Given the description of an element on the screen output the (x, y) to click on. 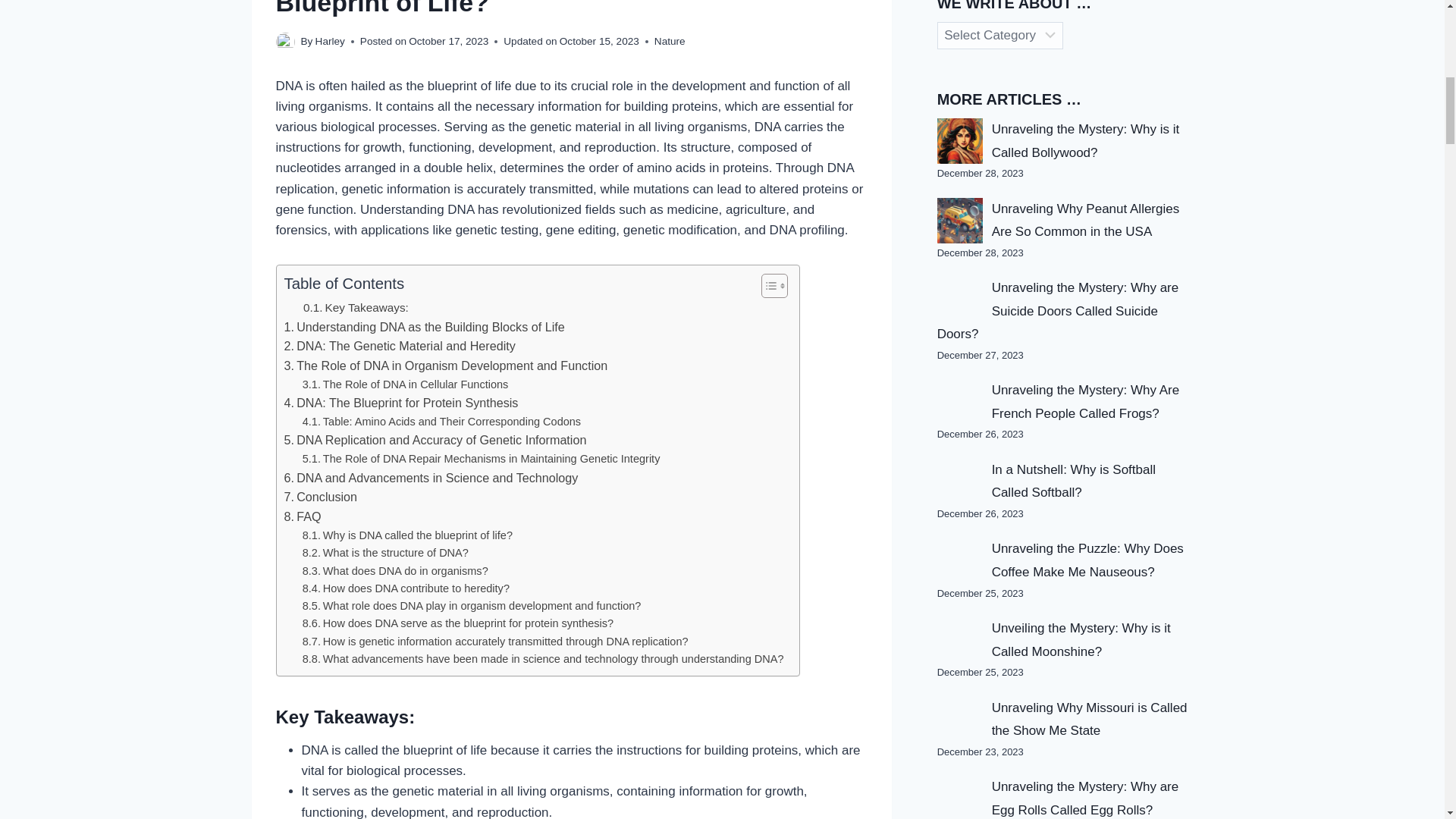
FAQ (301, 516)
How does DNA contribute to heredity? (405, 588)
FAQ (301, 516)
Key Takeaways: (355, 307)
How does DNA contribute to heredity? (405, 588)
What does DNA do in organisms? (394, 570)
DNA: The Blueprint for Protein Synthesis (400, 403)
The Role of DNA in Organism Development and Function (445, 365)
Understanding DNA as the Building Blocks of Life (423, 327)
The Role of DNA in Cellular Functions (405, 384)
